Given the description of an element on the screen output the (x, y) to click on. 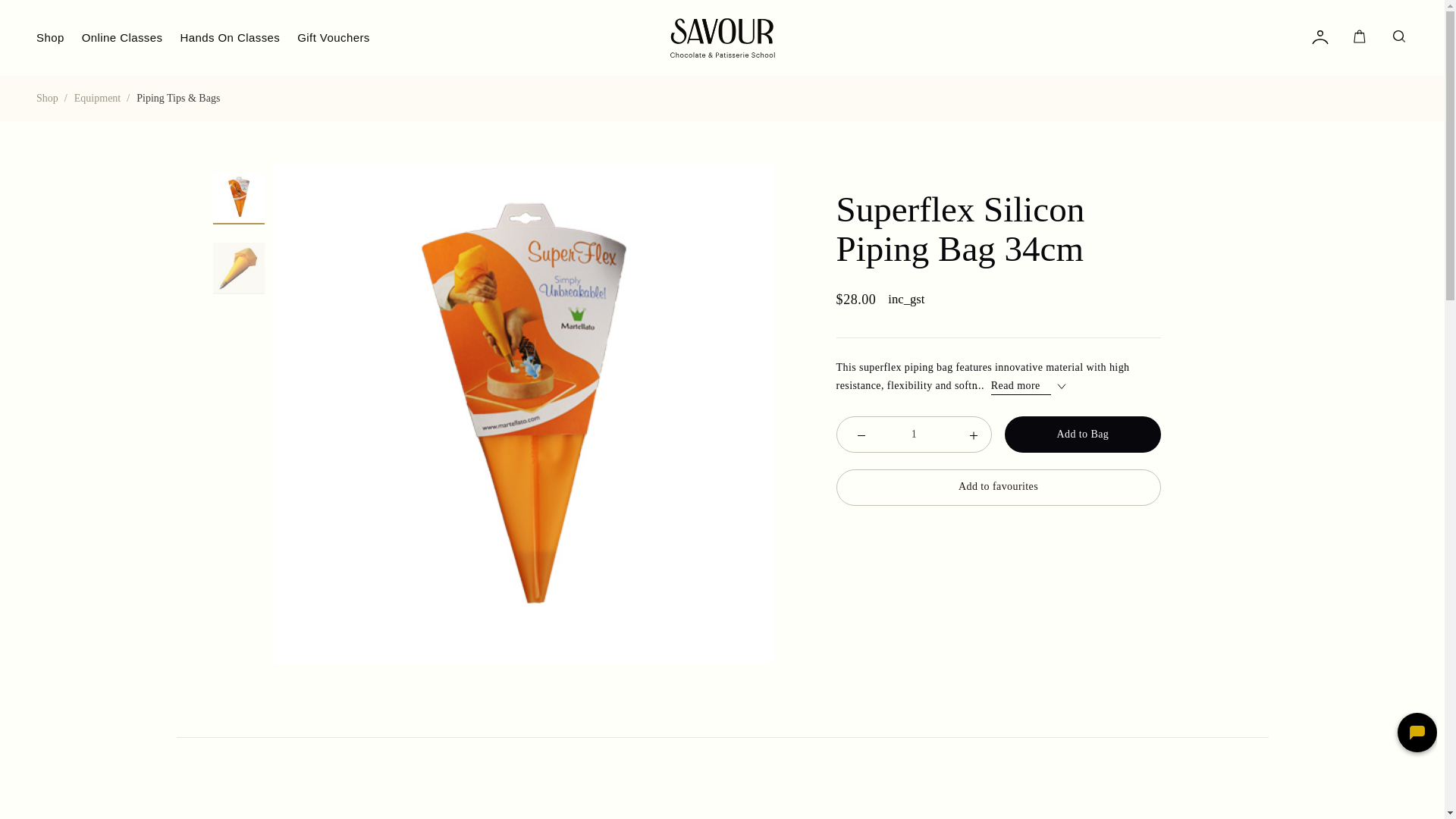
Online Classes (122, 37)
Equipment (97, 98)
Add to favourites (997, 487)
1 (914, 434)
Qty (914, 434)
Add to Bag (1082, 434)
Hands On Classes (229, 37)
Shop (50, 37)
Gift Vouchers (333, 37)
Shop (47, 98)
